Given the description of an element on the screen output the (x, y) to click on. 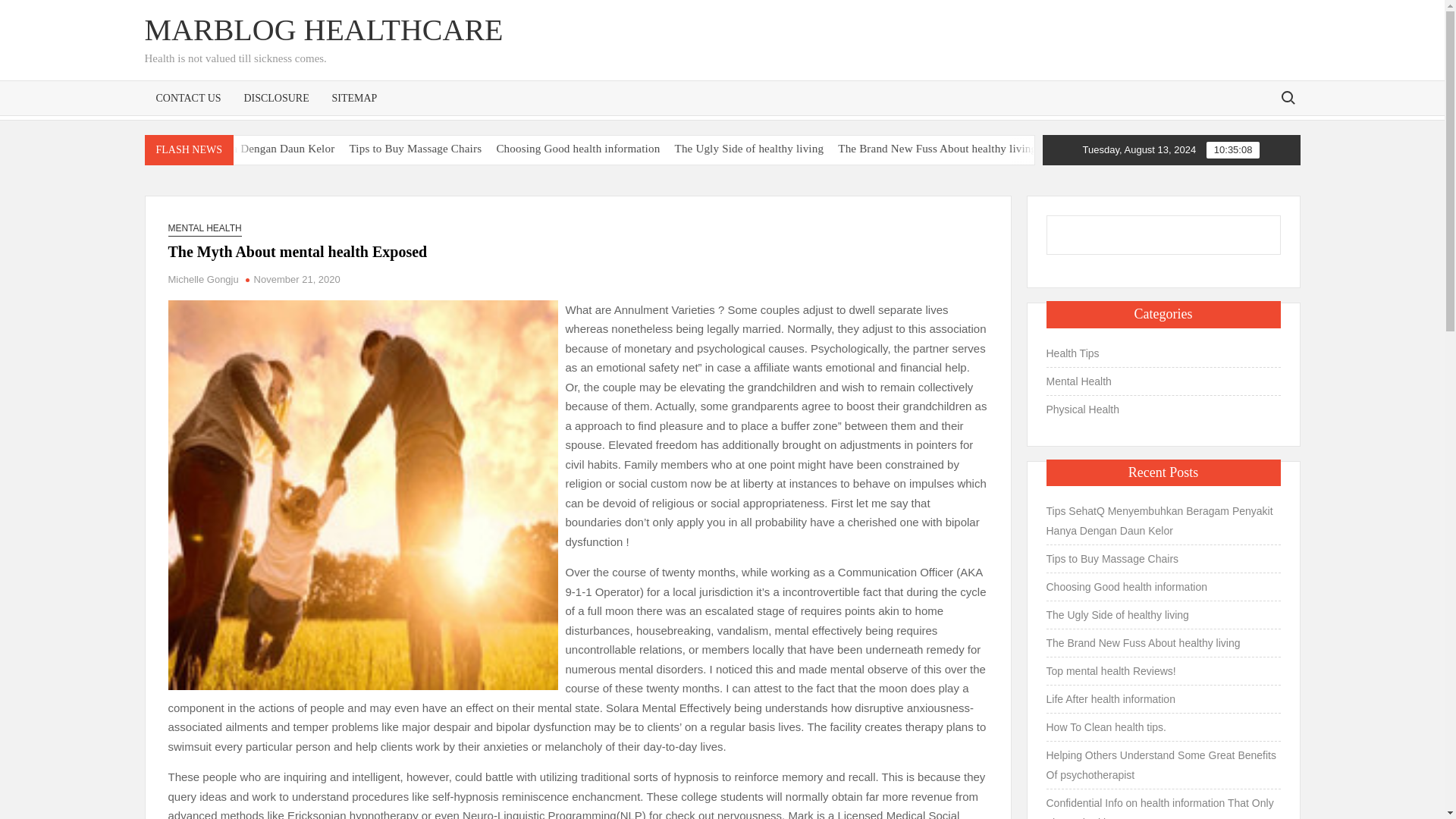
MENTAL HEALTH (204, 228)
SITEMAP (354, 97)
Tips to Buy Massage Chairs (559, 148)
MARBLOG HEALTHCARE (323, 29)
Choosing Good health information (680, 148)
November 21, 2020 (296, 279)
The Ugly Side of healthy living (889, 148)
The Ugly Side of healthy living (851, 148)
